Given the description of an element on the screen output the (x, y) to click on. 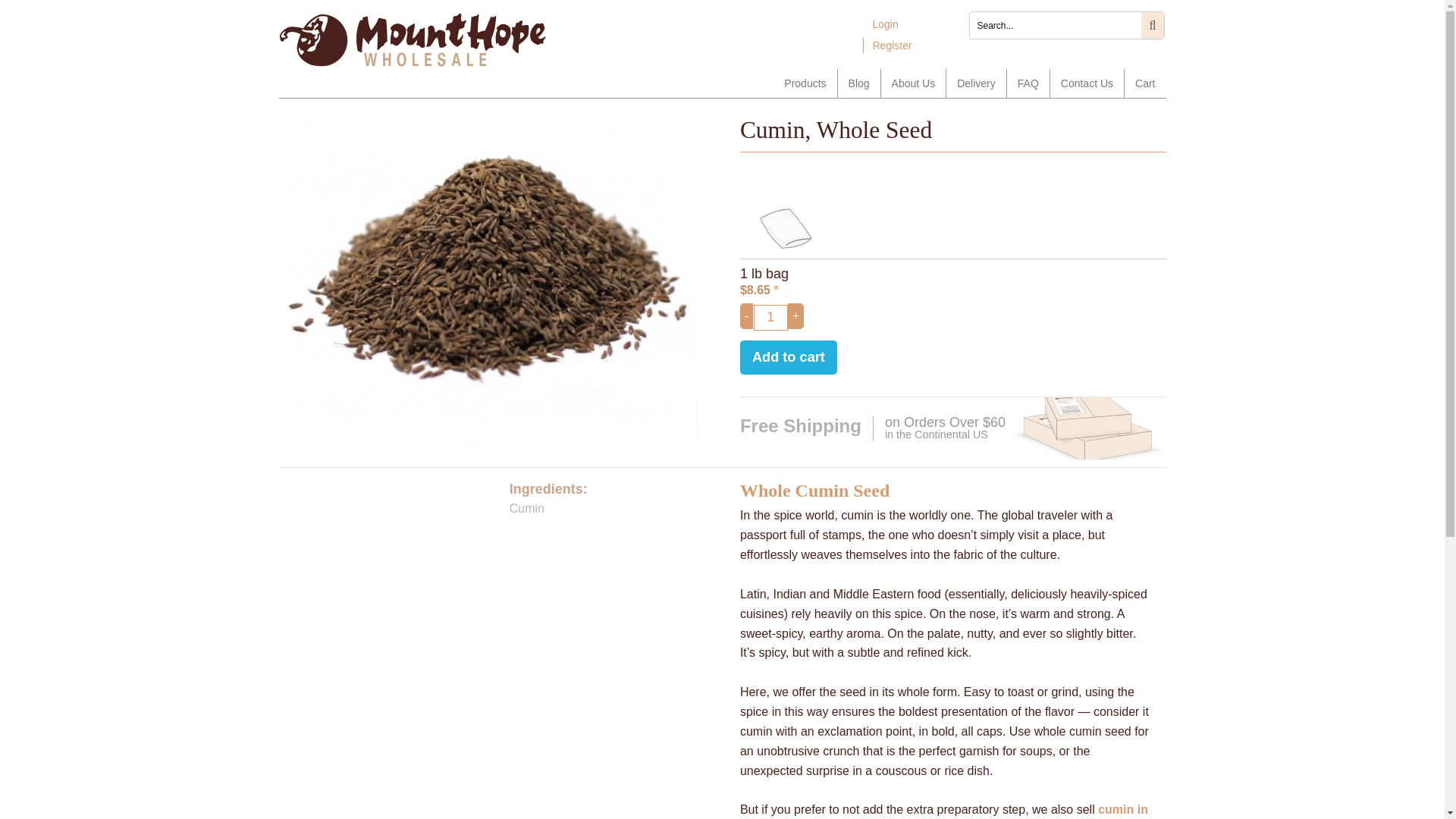
Mount Hope Wholesale (413, 41)
Add to cart (788, 357)
FAQ (1028, 82)
Cart (1145, 82)
1731 (952, 269)
Products (804, 82)
cumin in powder form (943, 811)
About Us (913, 82)
1 (770, 317)
Contact Us (1086, 82)
Register (892, 45)
Register (892, 45)
Login (885, 23)
Delivery (976, 82)
